Given the description of an element on the screen output the (x, y) to click on. 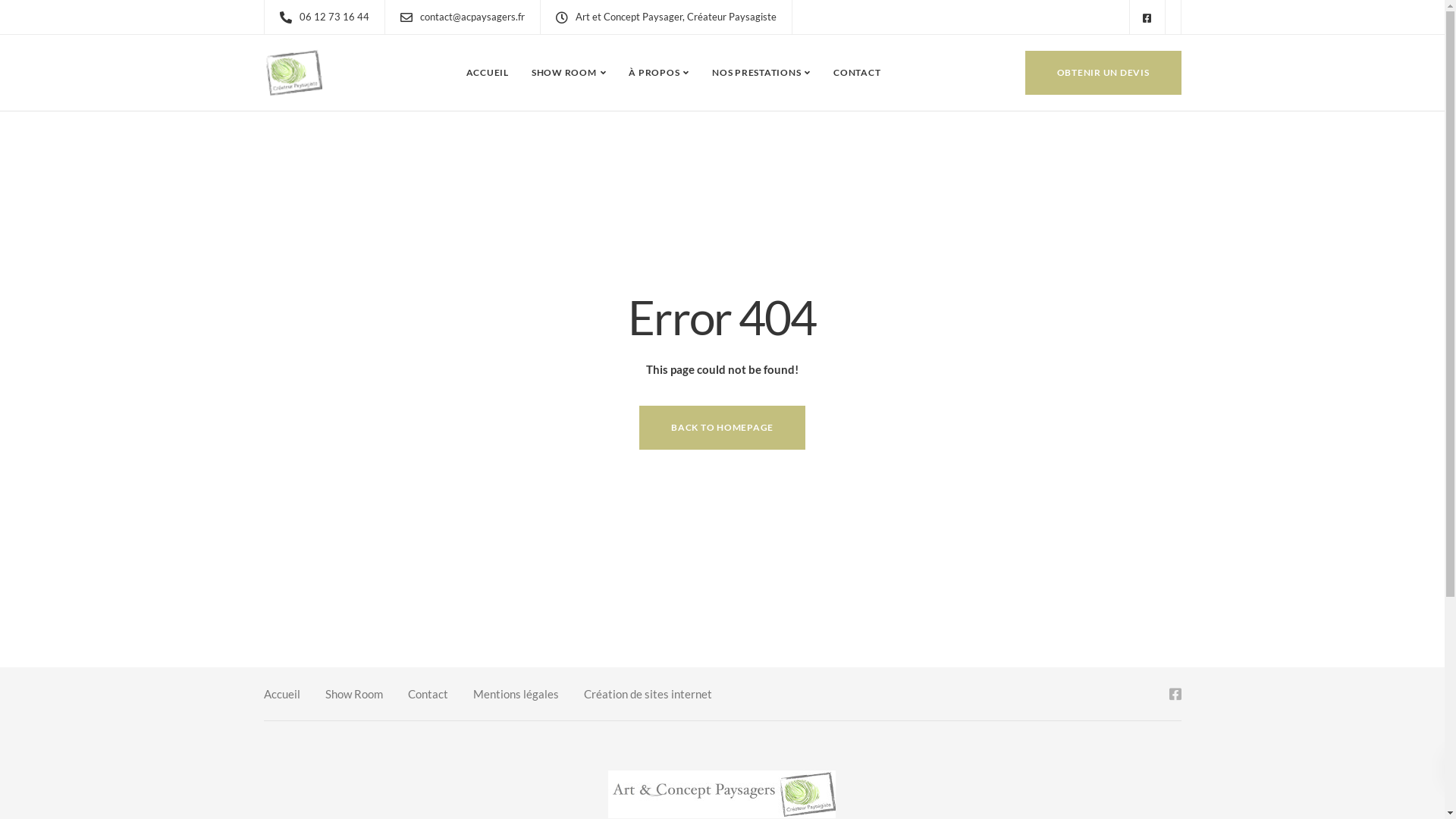
Contact Element type: text (427, 696)
Show Room Element type: text (353, 696)
OBTENIR UN DEVIS Element type: text (1103, 72)
Accueil Element type: text (281, 696)
contact@acpaysagers.fr Element type: text (476, 16)
BACK TO HOMEPAGE Element type: text (722, 427)
CONTACT Element type: text (856, 72)
ACCUEIL Element type: text (487, 72)
06 12 73 16 44 Element type: text (337, 16)
SHOW ROOM Element type: text (569, 72)
NOS PRESTATIONS Element type: text (761, 72)
